Given the description of an element on the screen output the (x, y) to click on. 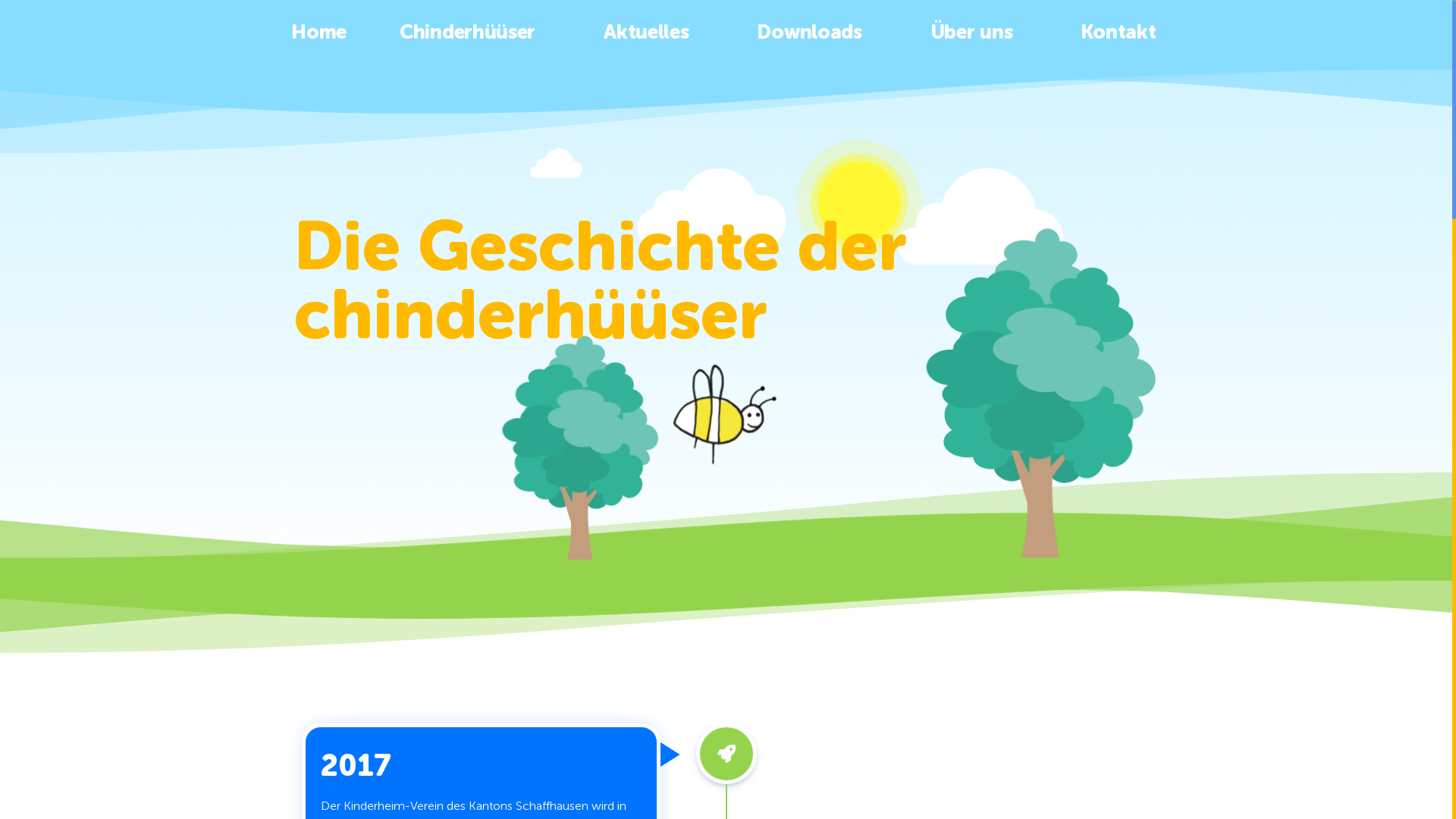
Downloads Element type: text (816, 32)
Kontakt Element type: text (1117, 32)
Aktuelles Element type: text (653, 32)
Home Element type: text (318, 32)
